Given the description of an element on the screen output the (x, y) to click on. 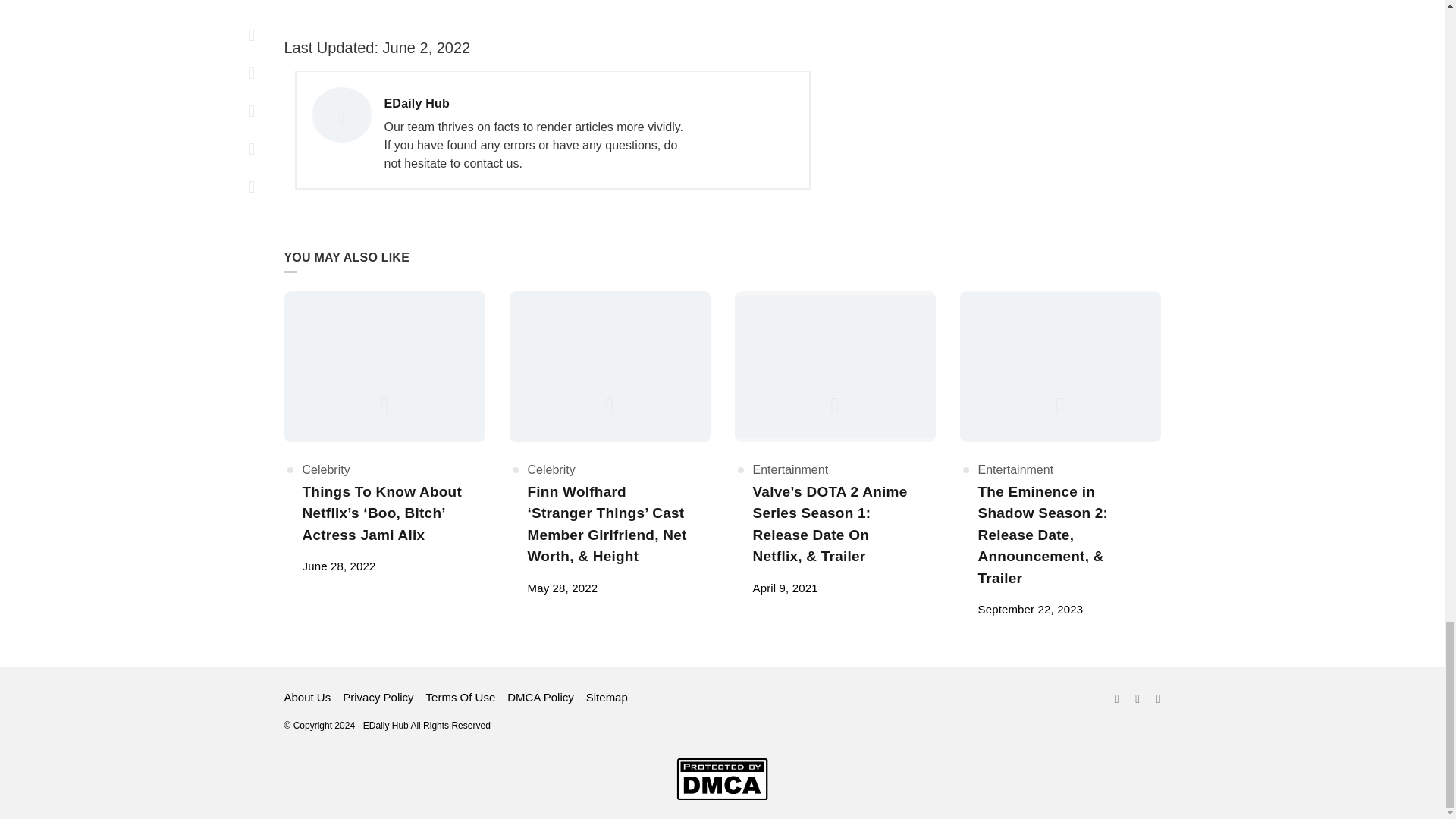
April 9, 2021 (784, 587)
Celebrity (325, 469)
June 2, 2022 (424, 47)
May 28, 2022 (562, 587)
June 28, 2022 (338, 565)
June 28, 2022 (338, 565)
June 2, 2022 (535, 104)
